Given the description of an element on the screen output the (x, y) to click on. 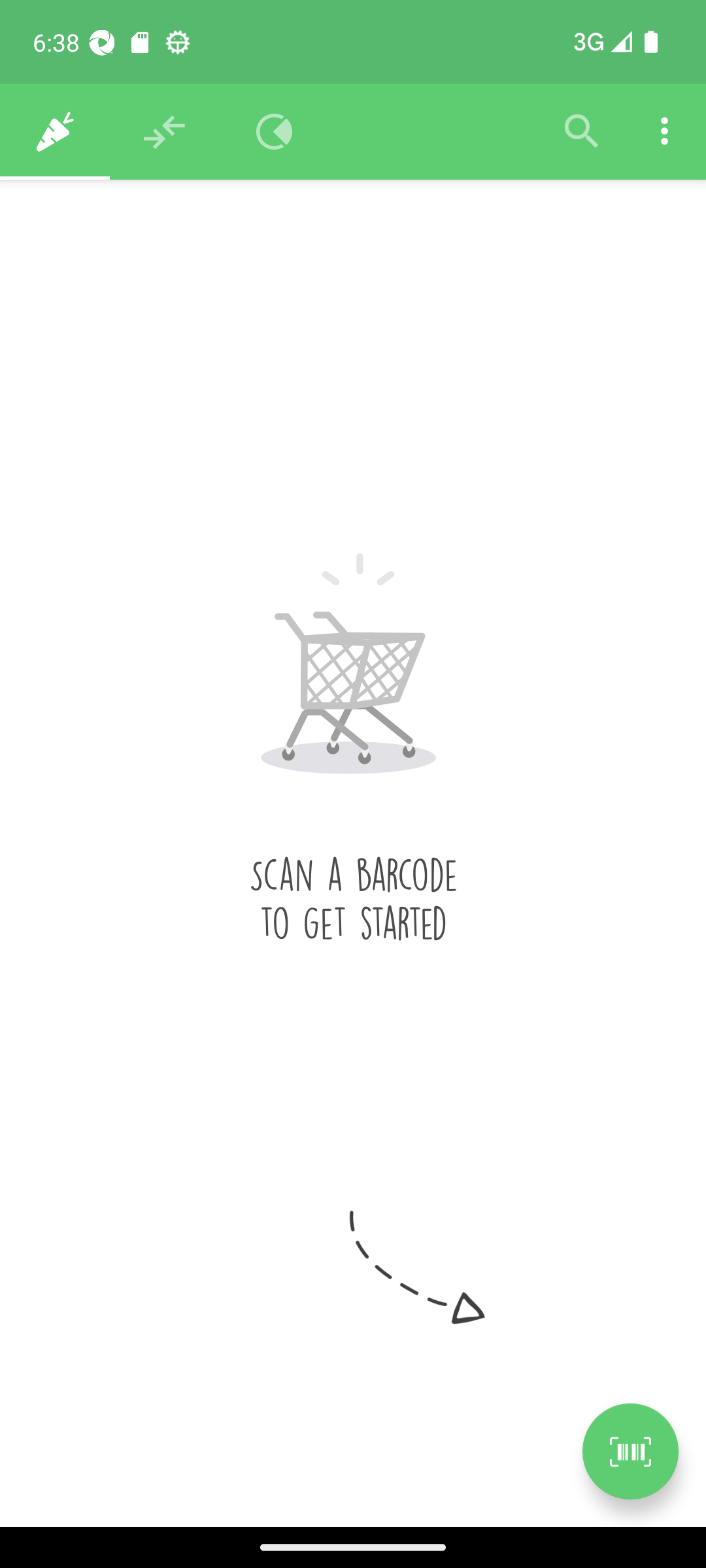
Recommendations (164, 131)
Overview (274, 131)
Filter (581, 131)
Settings (664, 131)
Scan a product (630, 1451)
